Given the description of an element on the screen output the (x, y) to click on. 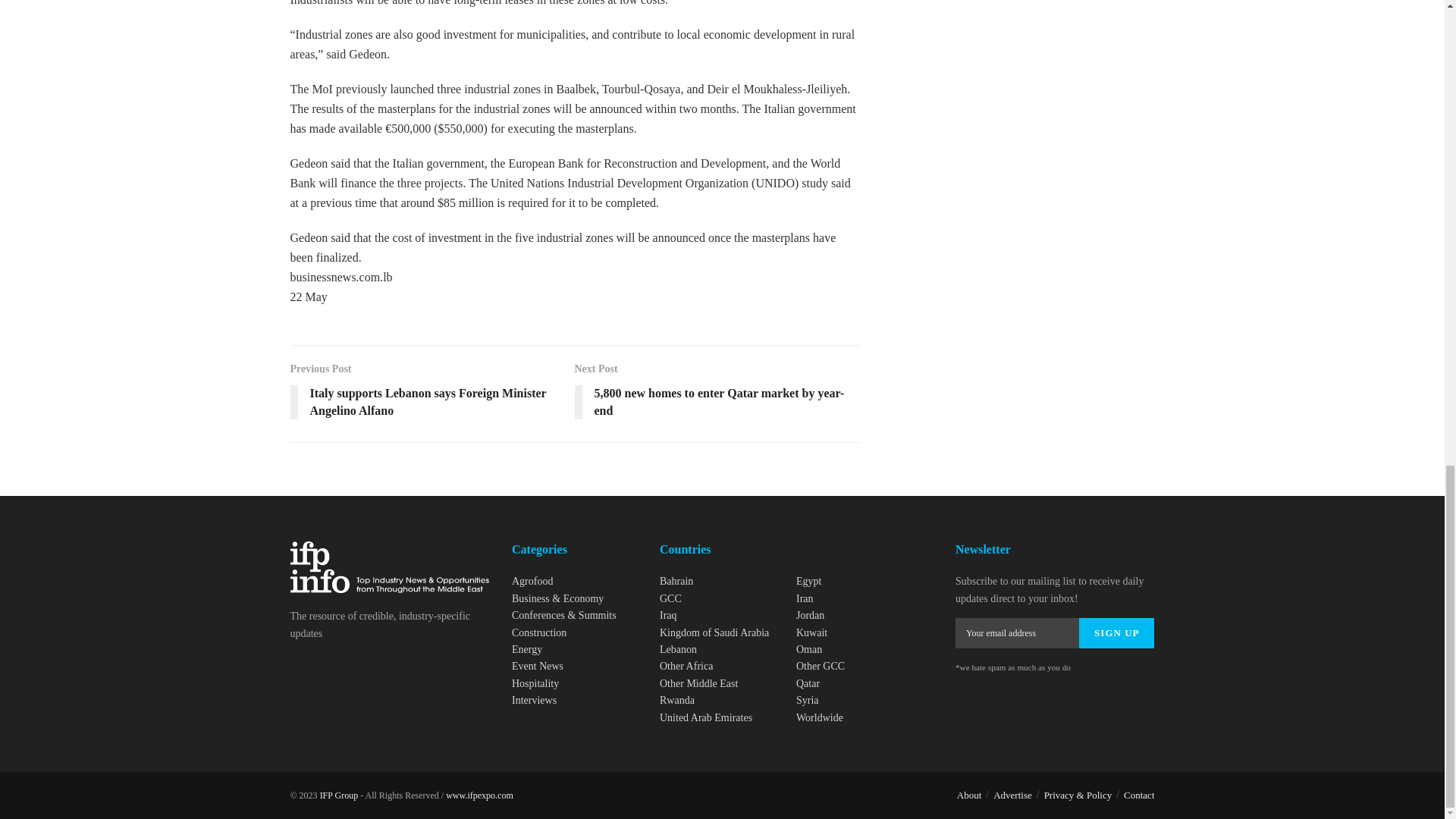
Sign up (1116, 633)
